Given the description of an element on the screen output the (x, y) to click on. 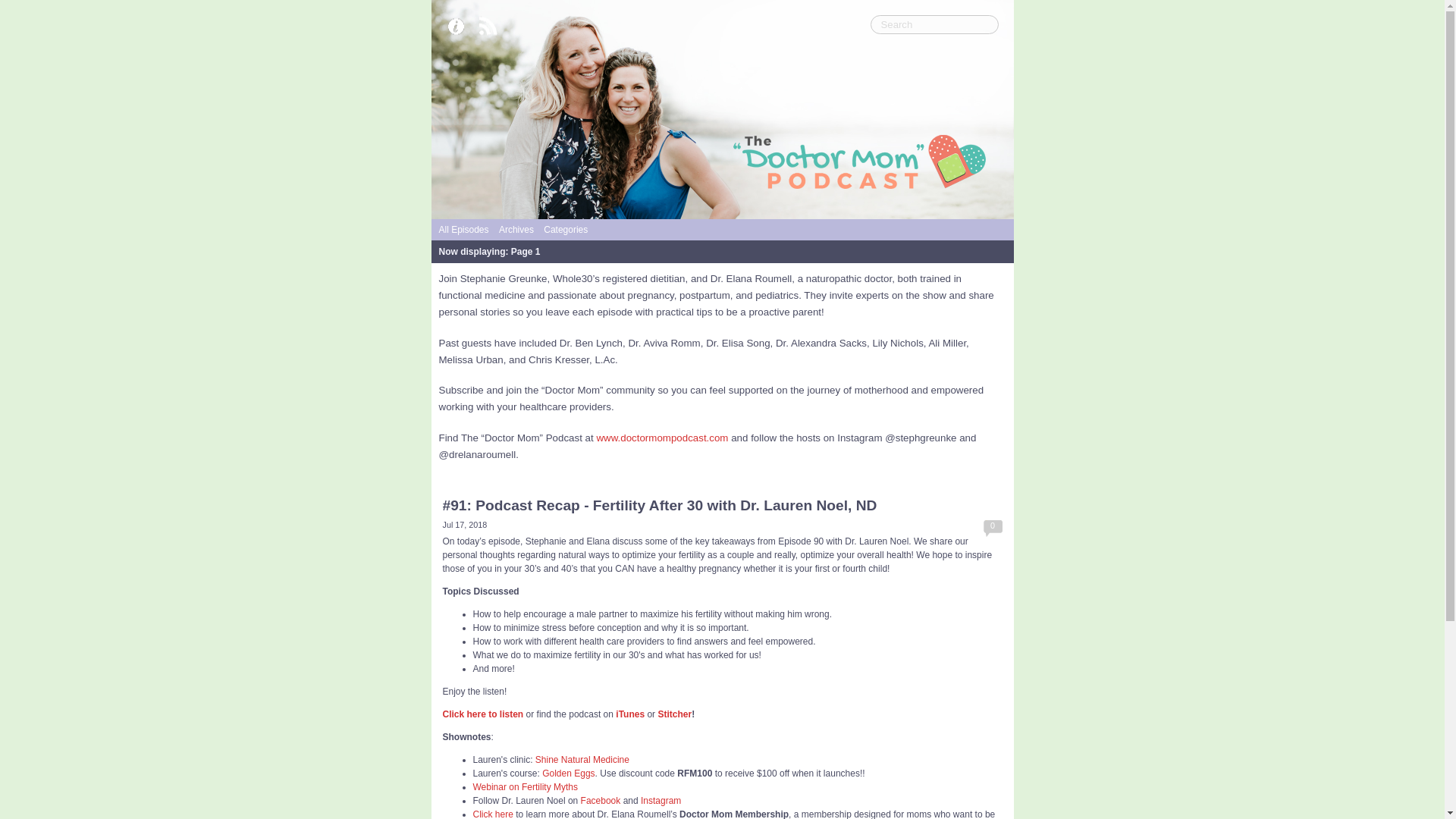
RSS Feed (491, 26)
